Given the description of an element on the screen output the (x, y) to click on. 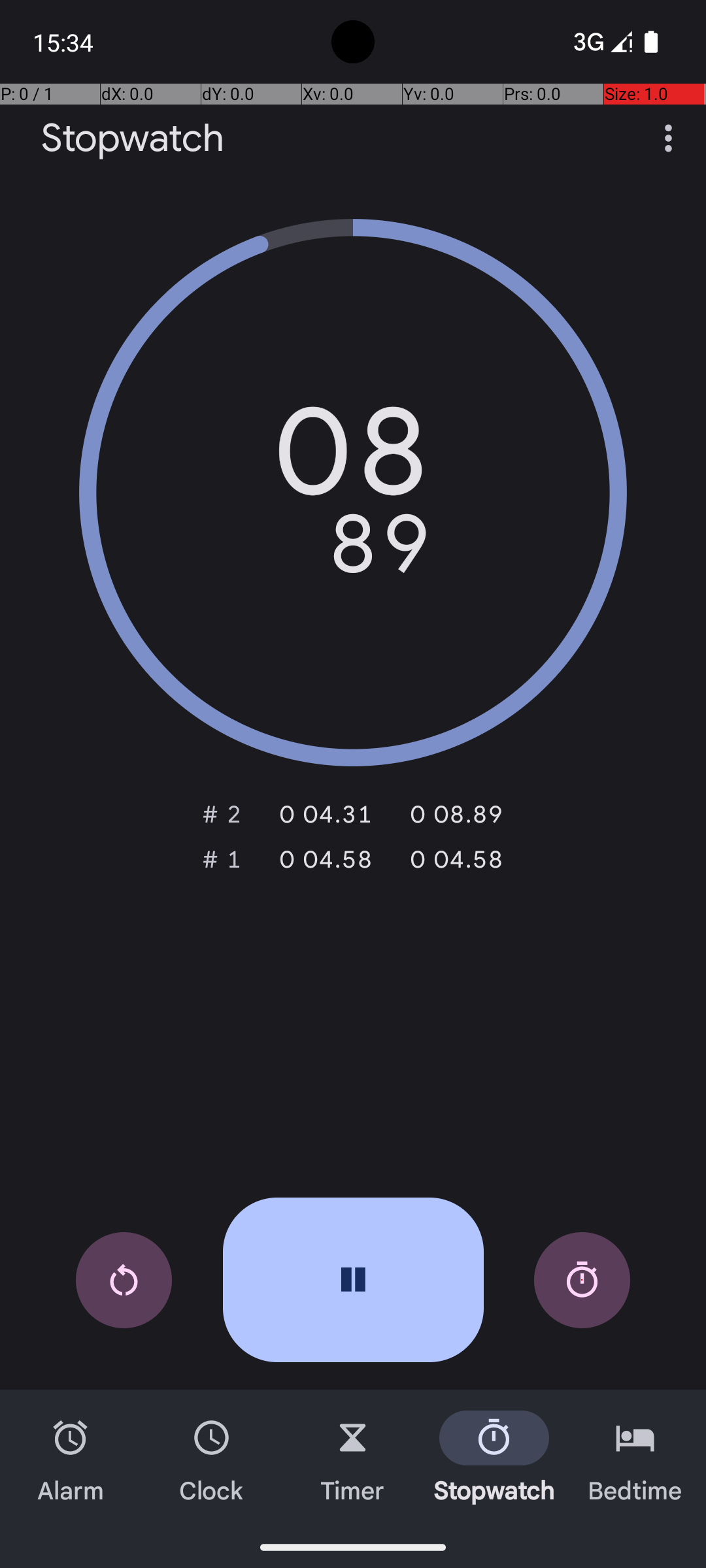
08 Element type: android.widget.TextView (352, 460)
# 2 Element type: android.widget.TextView (221, 814)
0‎ 04.28 Element type: android.widget.TextView (317, 814)
0‎ 08.86 Element type: android.widget.TextView (448, 814)
# 1 Element type: android.widget.TextView (221, 859)
0‎ 04.58 Element type: android.widget.TextView (317, 859)
